Given the description of an element on the screen output the (x, y) to click on. 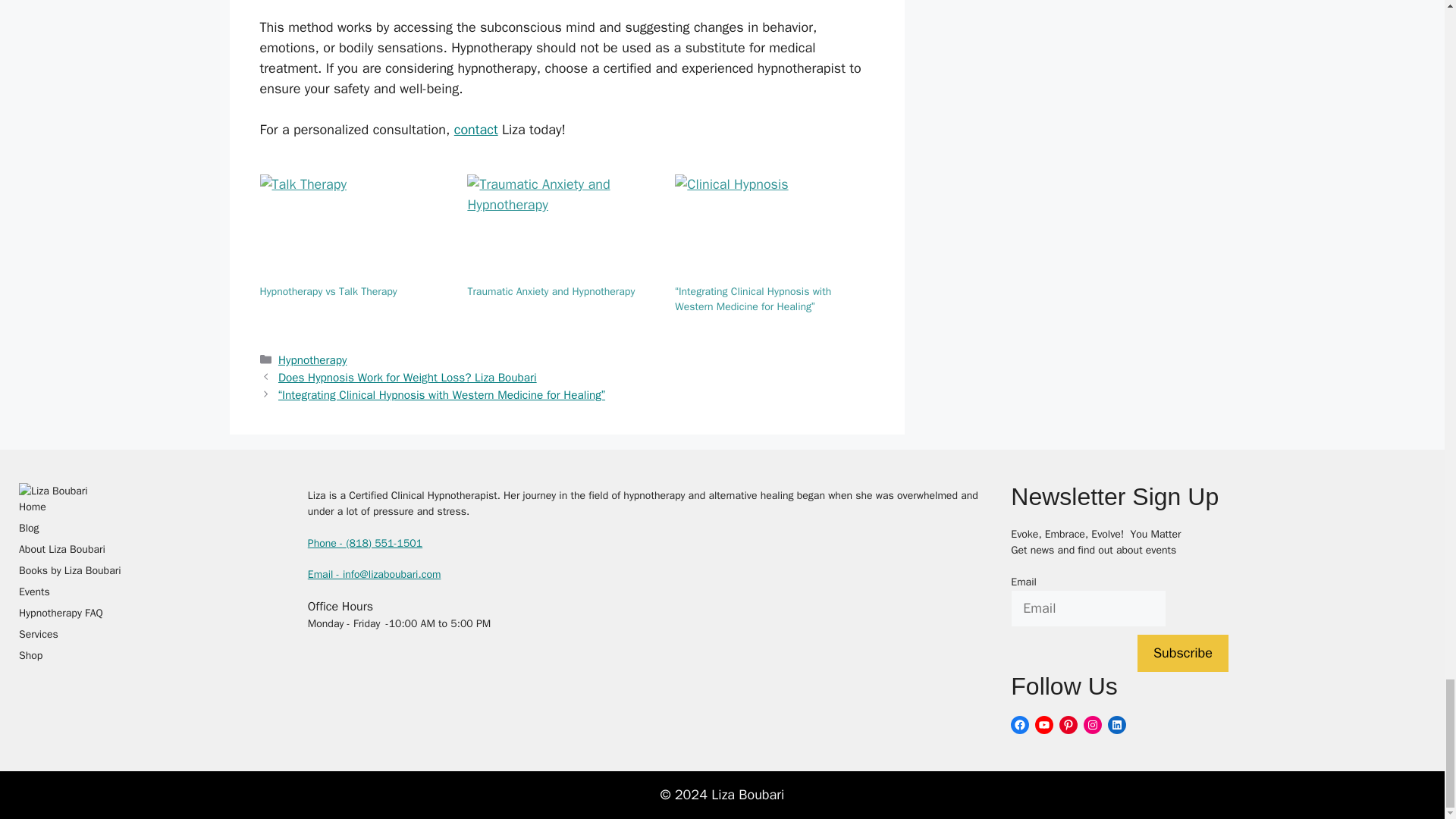
Hypnotherapy vs Talk Therapy (327, 291)
Hypnotherapy (312, 359)
Hypnotherapy vs Talk Therapy (327, 291)
Does Hypnosis Work for Weight Loss? Liza Boubari (407, 377)
contact (475, 129)
Traumatic Anxiety and Hypnotherapy (563, 229)
Hypnotherapy vs Talk Therapy (355, 229)
Traumatic Anxiety and Hypnotherapy (550, 291)
Traumatic Anxiety and Hypnotherapy (550, 291)
